Given the description of an element on the screen output the (x, y) to click on. 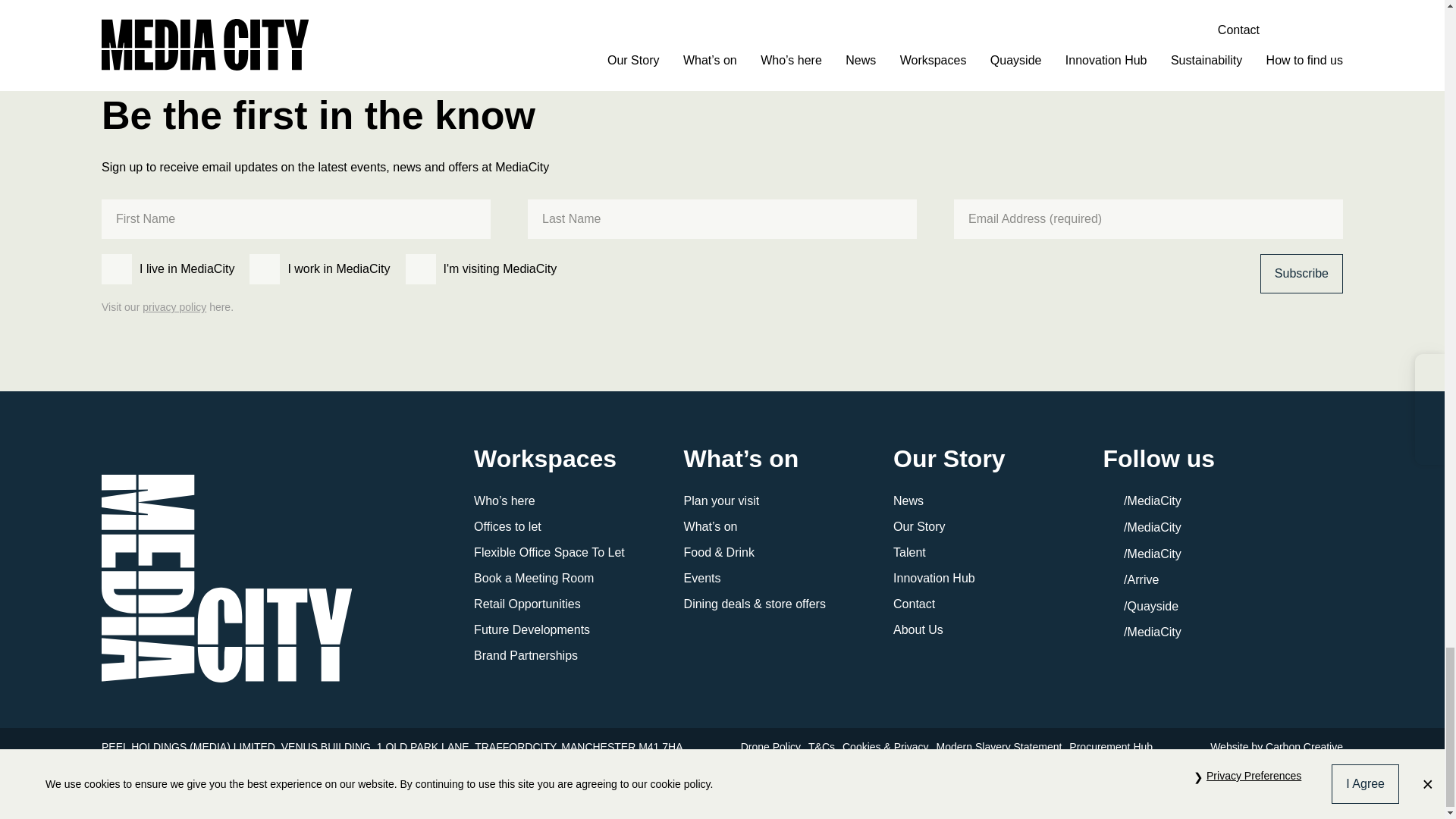
Subscribe (1301, 273)
MediaCity on Instagram (1141, 553)
MediaCity on Facebook (1141, 500)
I live in MediaCity (116, 268)
I'm visiting MediaCity (420, 268)
MediaCity on Twitter (1141, 526)
Quayside on Instagram (1141, 605)
I work in MediaCity (263, 268)
MediaCity on LinkedIn (1141, 631)
Arrive on Instagram (1130, 579)
